Given the description of an element on the screen output the (x, y) to click on. 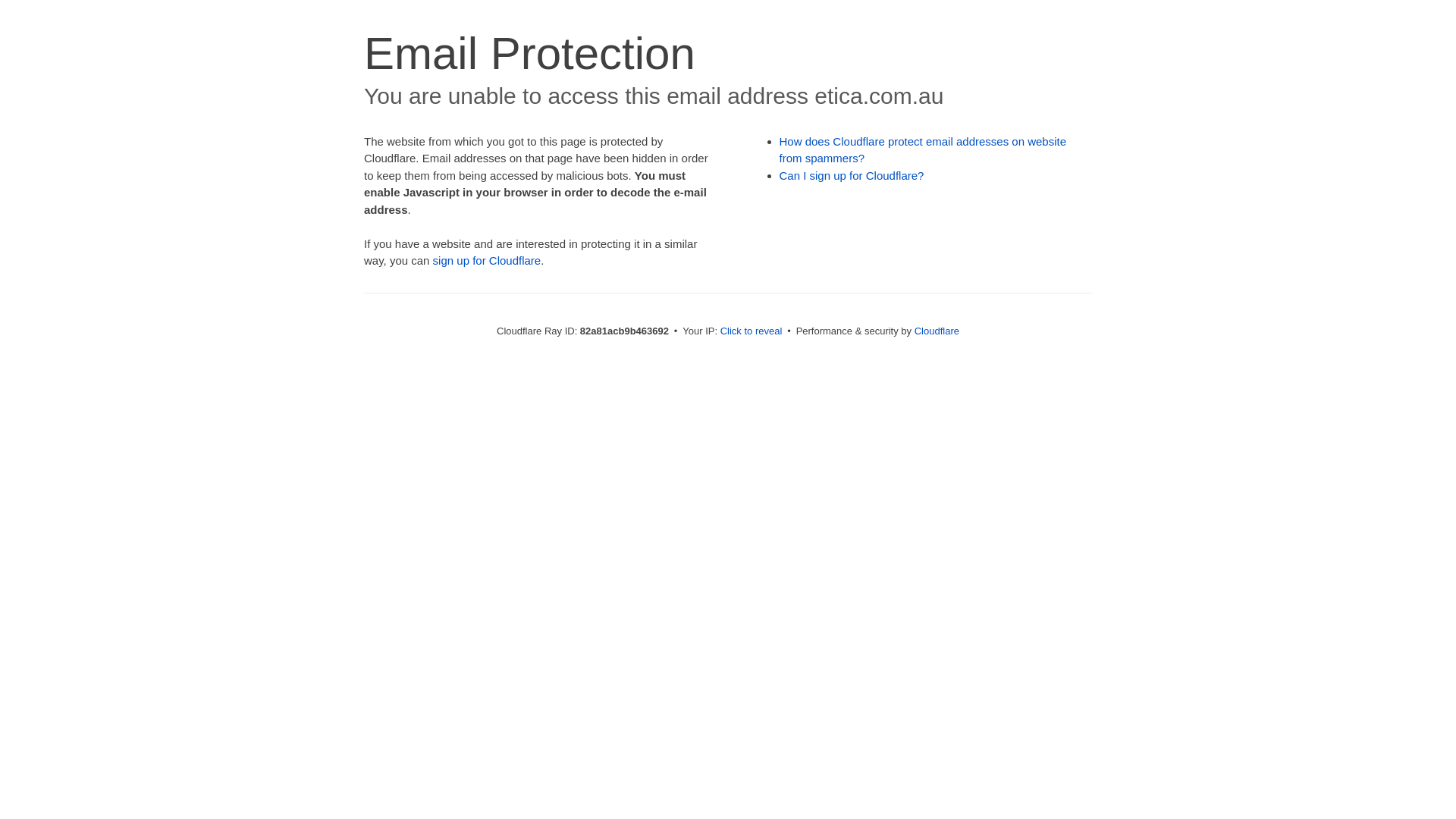
Cloudflare Element type: text (936, 330)
Can I sign up for Cloudflare? Element type: text (851, 175)
Click to reveal Element type: text (751, 330)
sign up for Cloudflare Element type: text (487, 260)
